Given the description of an element on the screen output the (x, y) to click on. 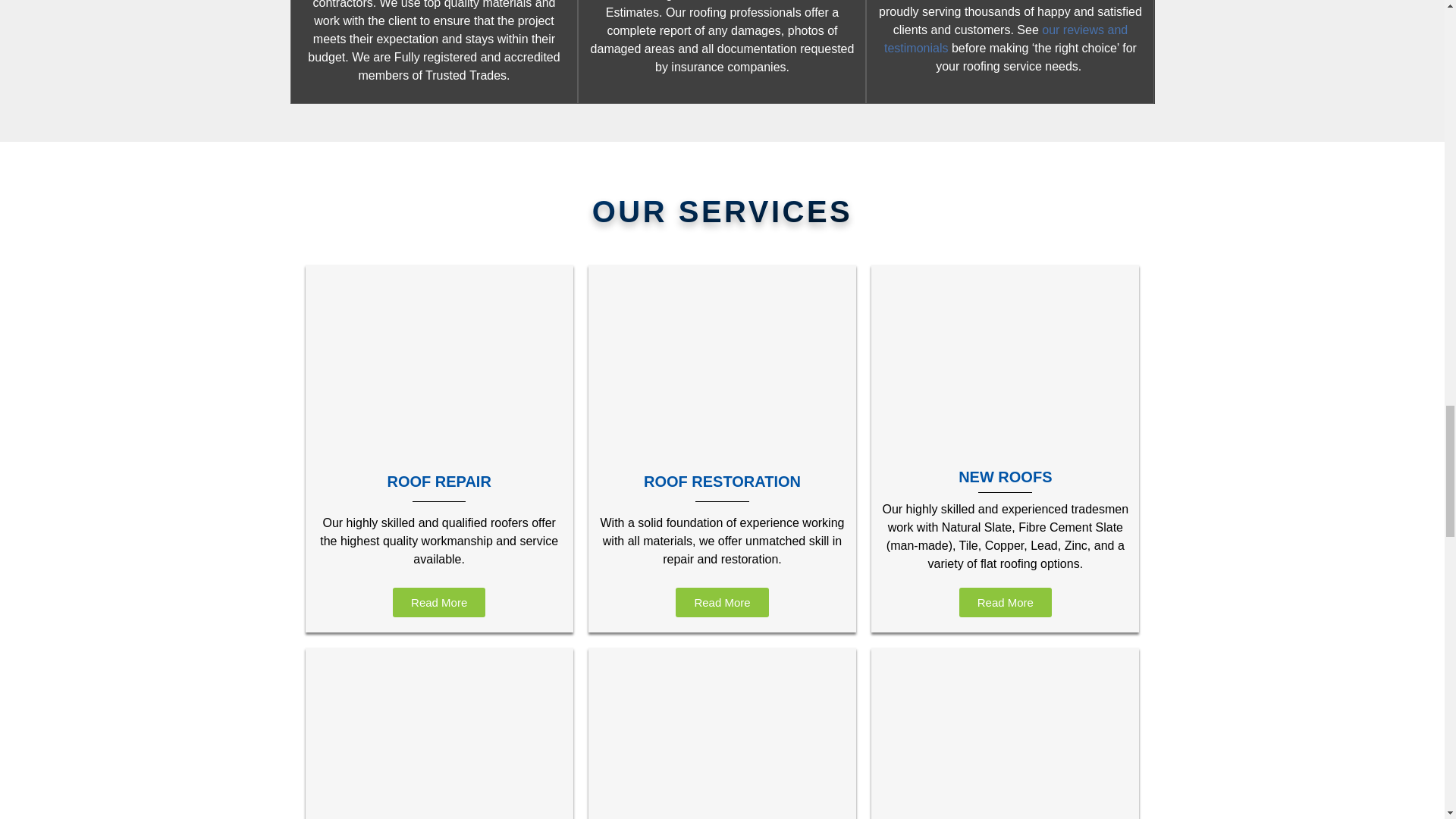
TESTIMONIALS (1004, 38)
